Given the description of an element on the screen output the (x, y) to click on. 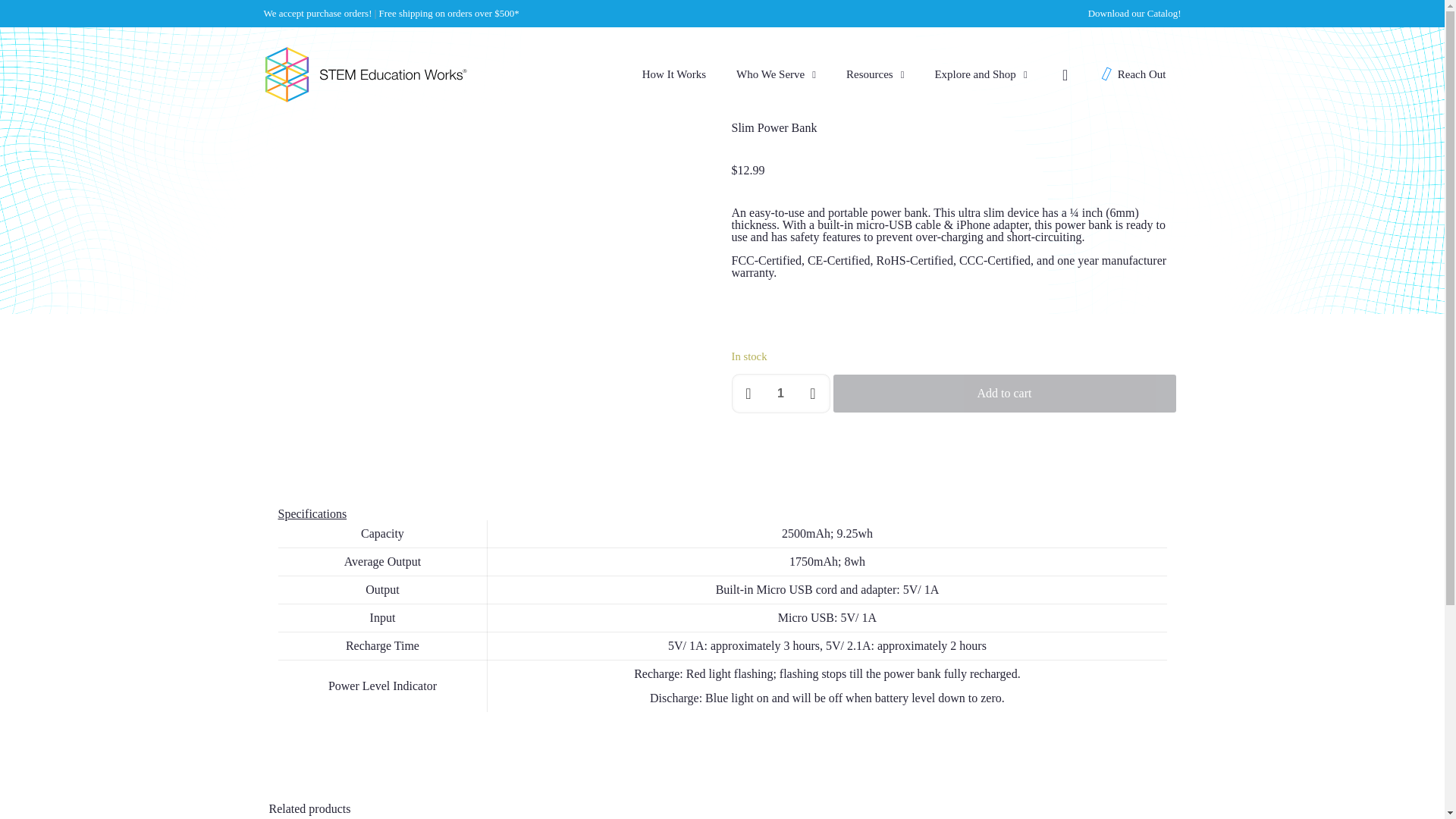
Who We Serve (775, 74)
We accept purchase orders! (317, 12)
How It Works (673, 74)
1 (779, 393)
Download our Catalog! (1133, 12)
Resources (874, 74)
